Given the description of an element on the screen output the (x, y) to click on. 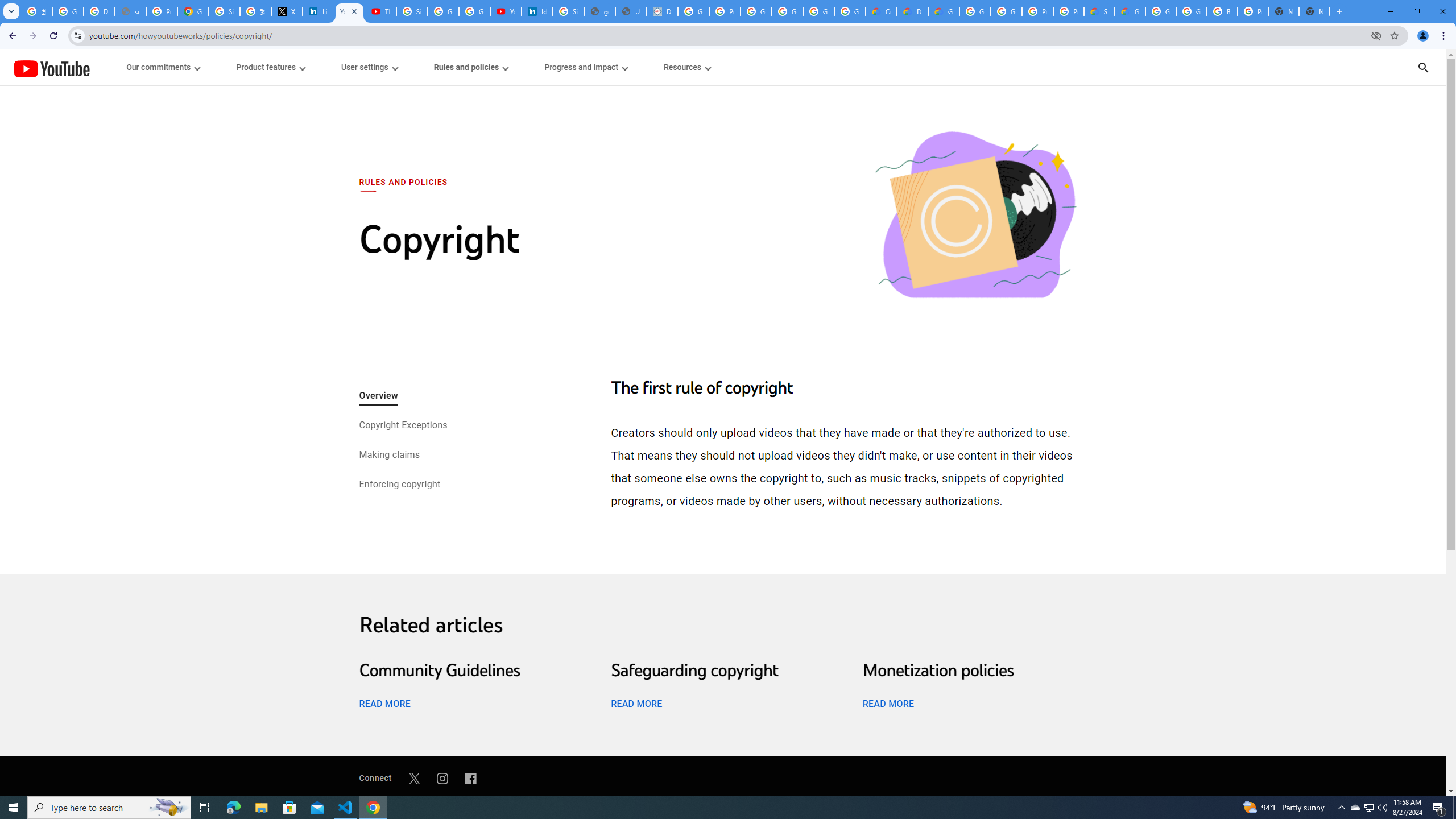
Instagram (442, 778)
Copyright (974, 216)
Customer Care | Google Cloud (881, 11)
